Given the description of an element on the screen output the (x, y) to click on. 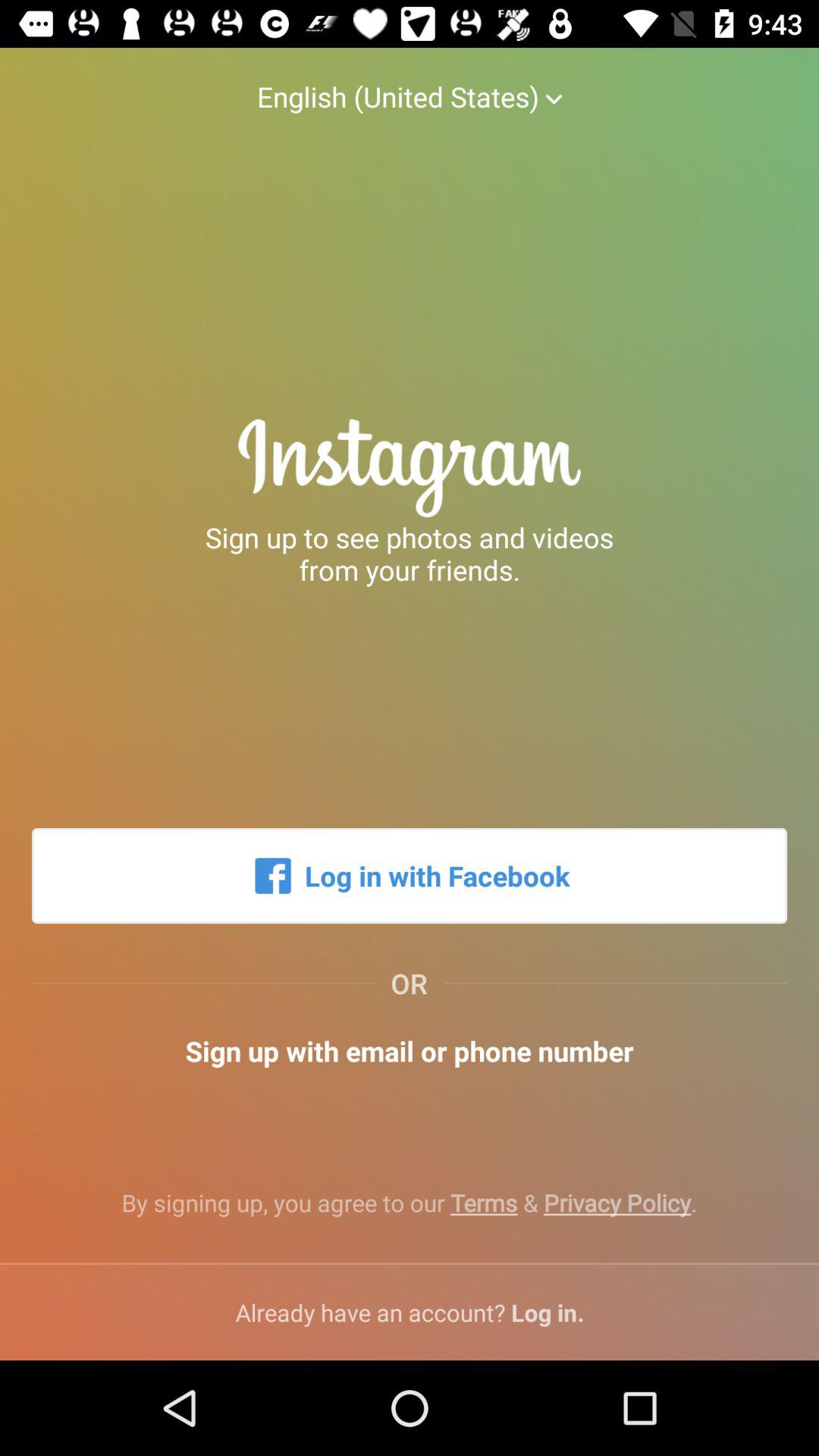
scroll to by signing up (409, 1214)
